Given the description of an element on the screen output the (x, y) to click on. 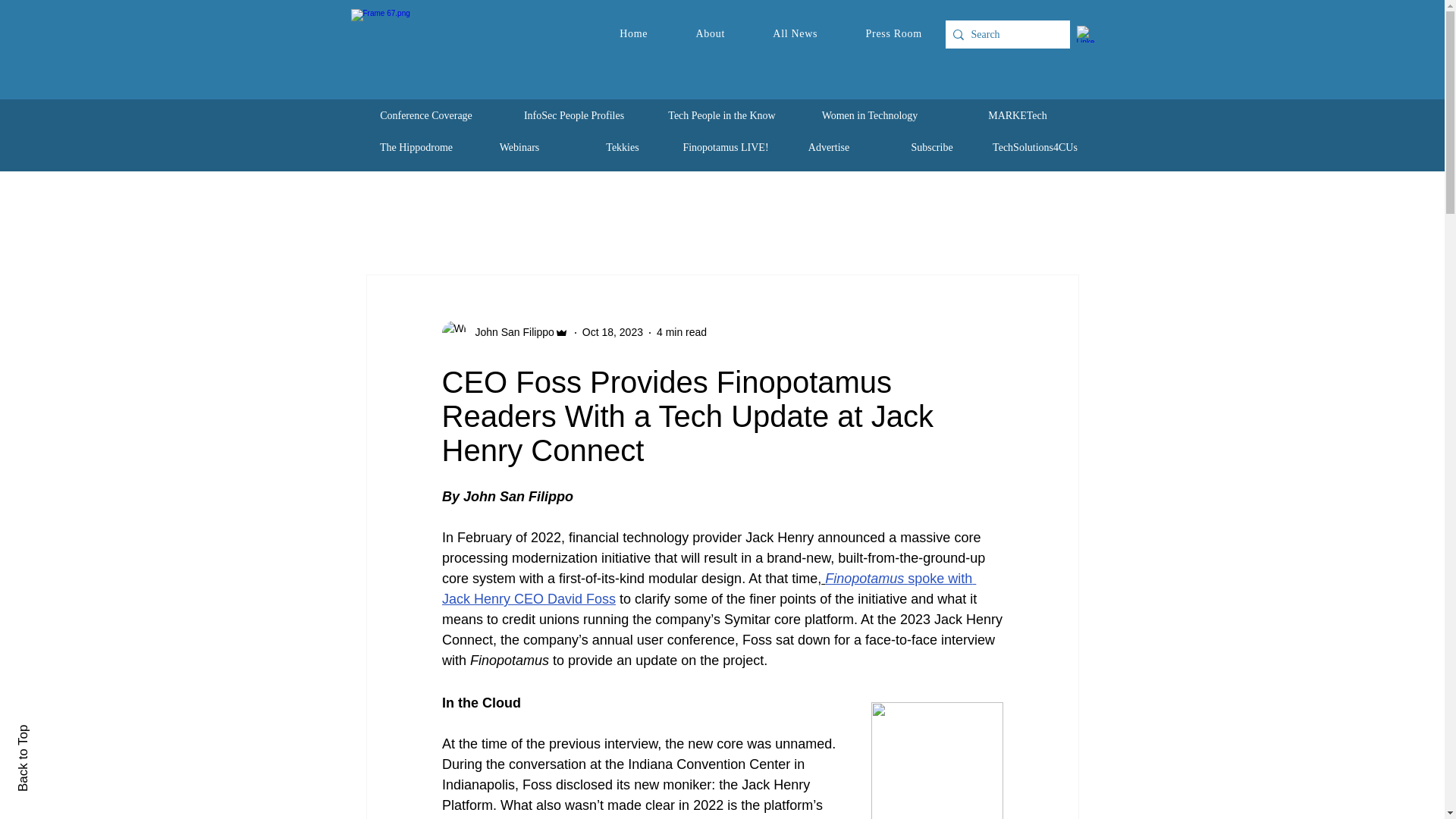
John San Filippo (509, 332)
MARKETech (1017, 115)
Conference Coverage (425, 115)
TechSolutions4CUs (1034, 147)
InfoSec People Profiles (574, 115)
The Hippodrome (416, 147)
Finopotamus LIVE! (725, 147)
Oct 18, 2023 (612, 331)
Tekkies (622, 147)
Advertise (828, 147)
